Given the description of an element on the screen output the (x, y) to click on. 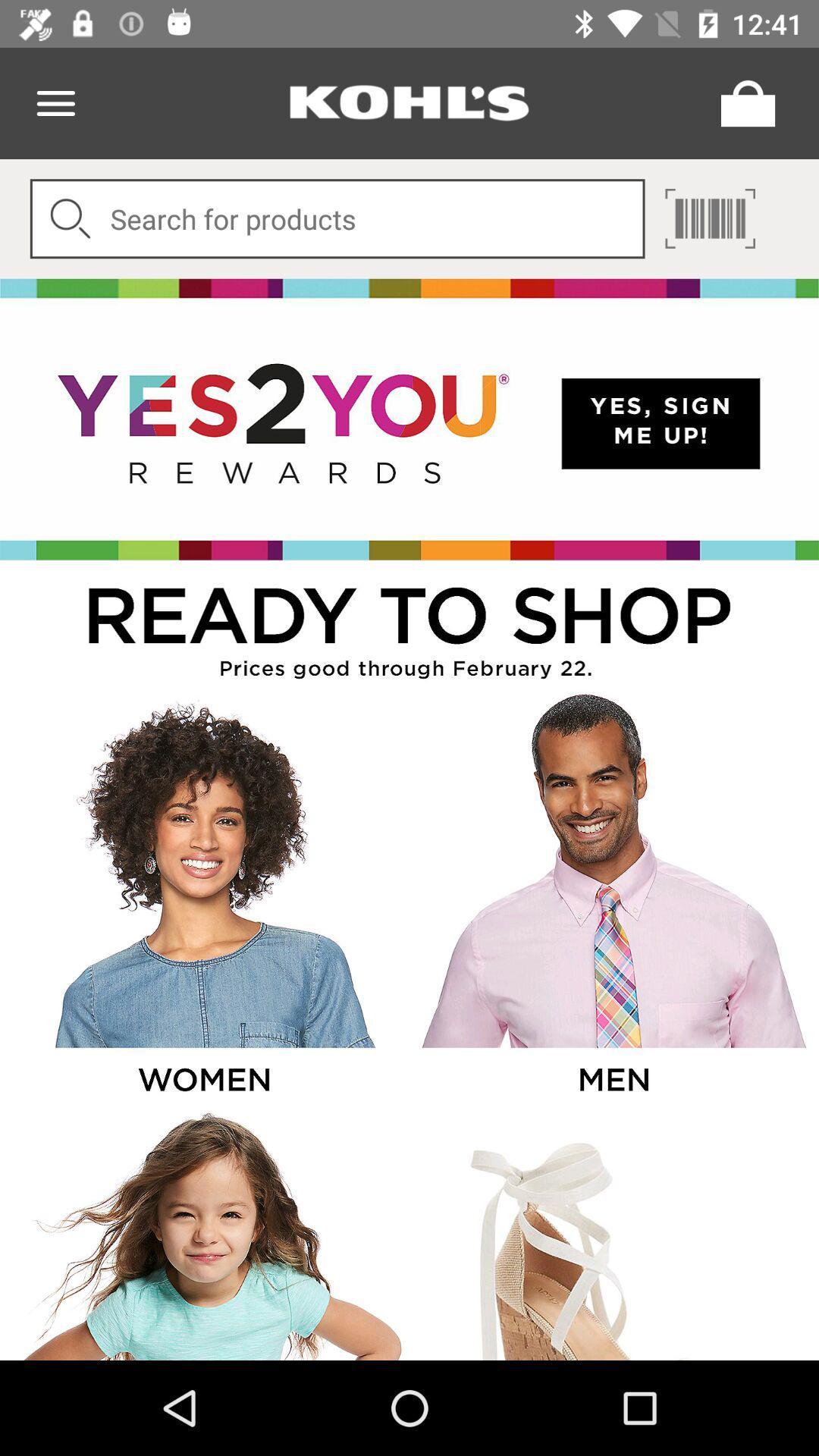
digit a product (337, 218)
